Given the description of an element on the screen output the (x, y) to click on. 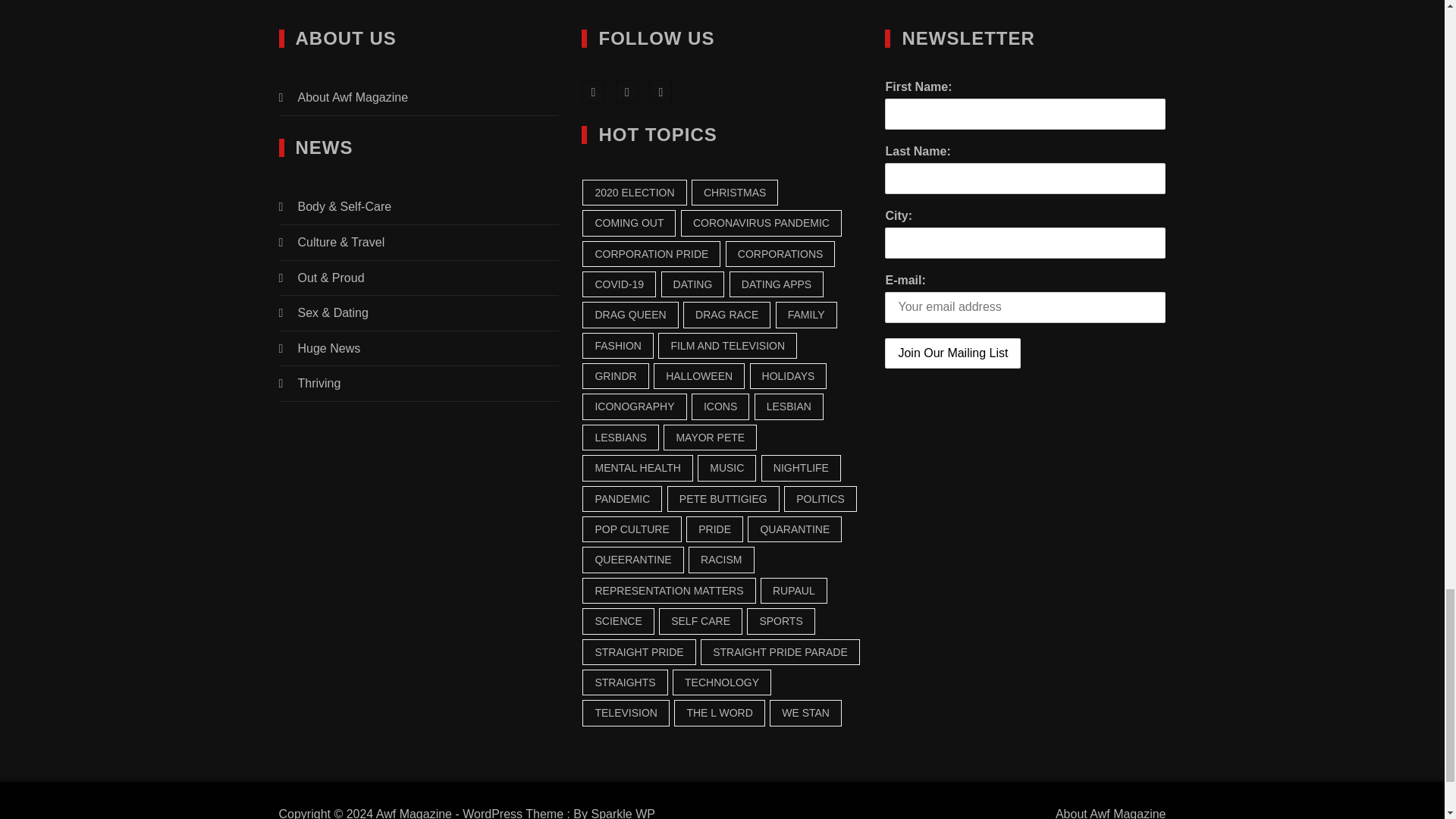
Join Our Mailing List (952, 353)
